Given the description of an element on the screen output the (x, y) to click on. 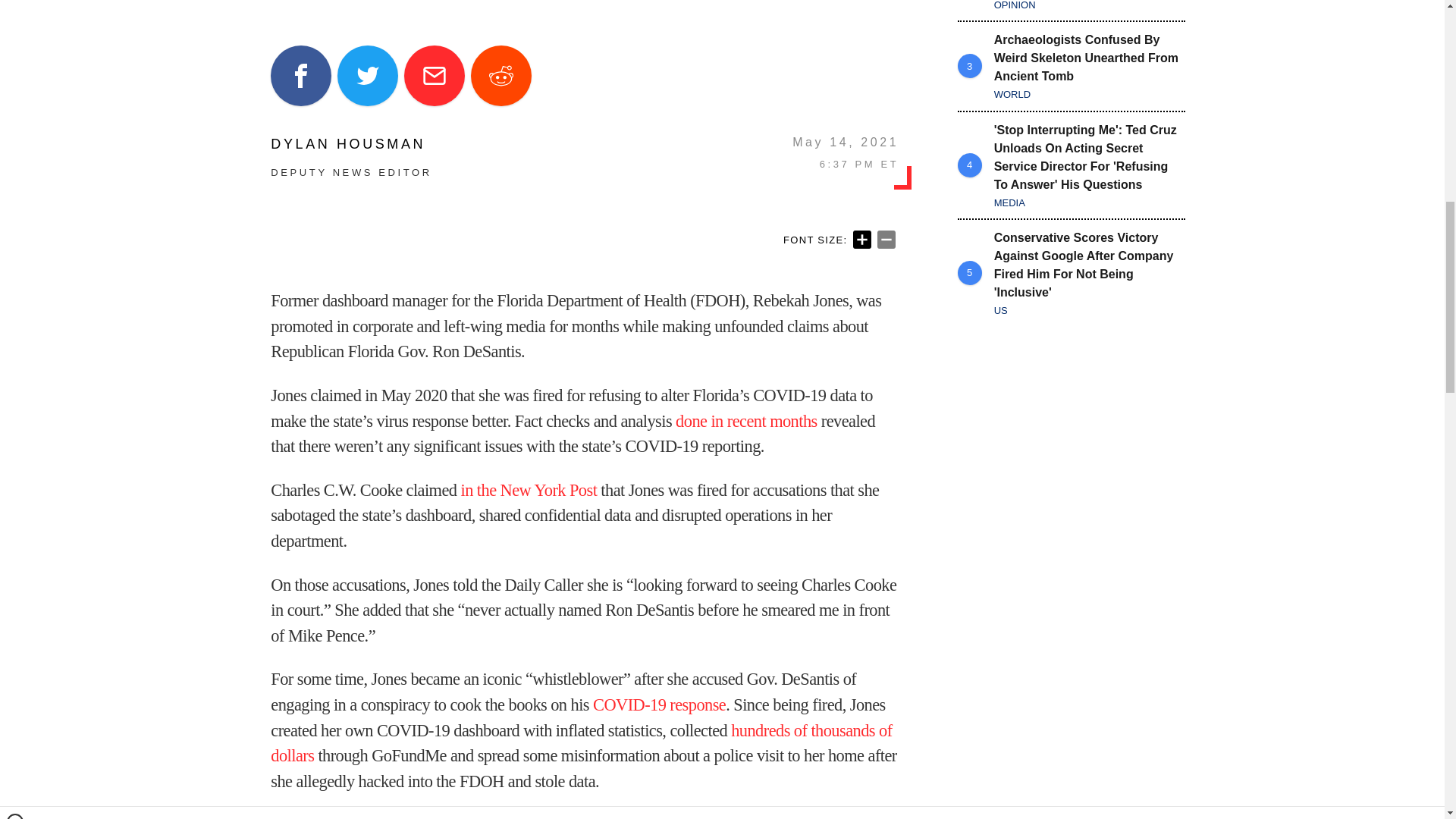
done in recent months (745, 420)
Close window (14, 6)
DYLAN HOUSMAN (350, 144)
in the New York Post (528, 489)
View More Articles By Dylan Housman (350, 144)
